Given the description of an element on the screen output the (x, y) to click on. 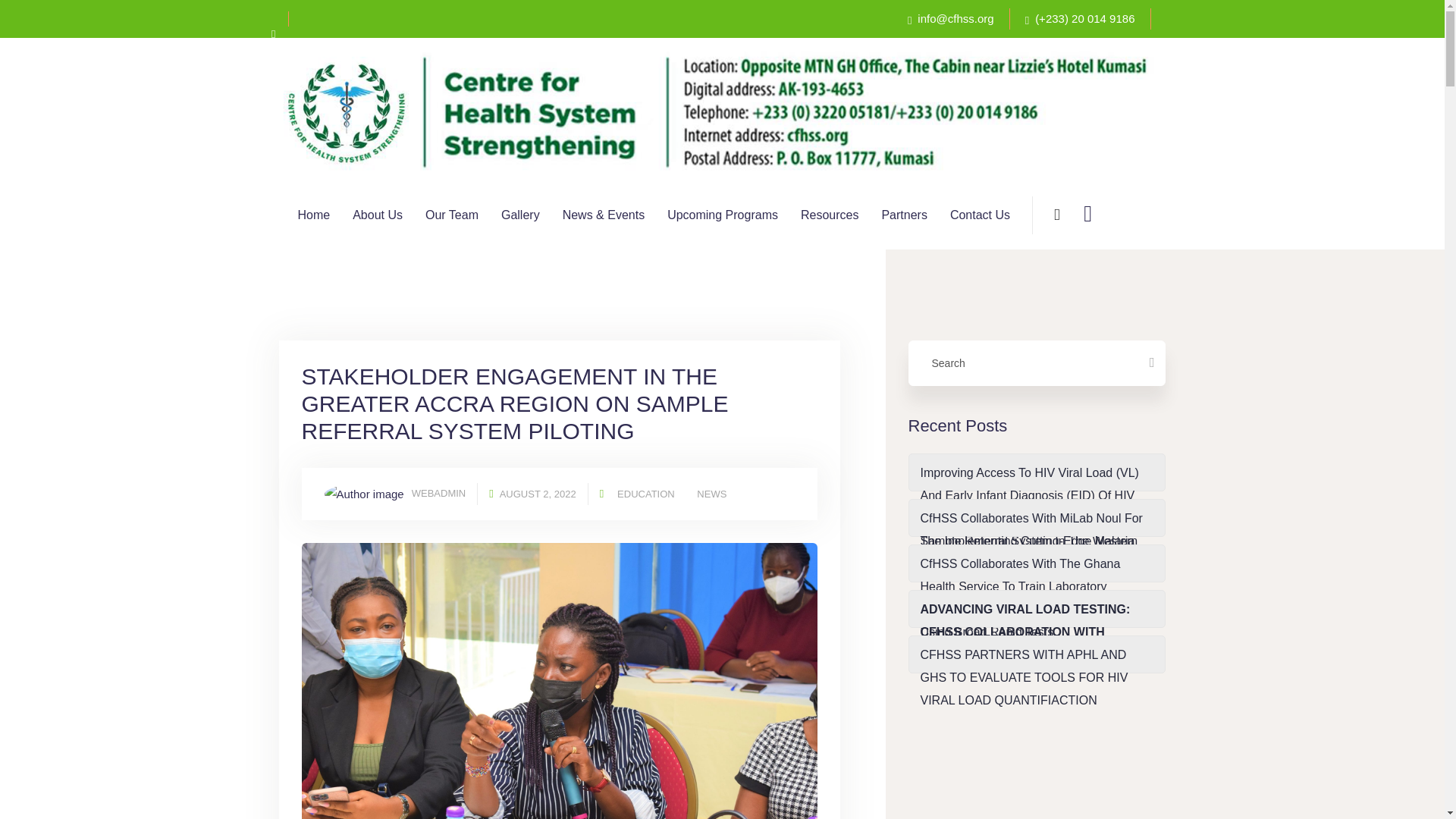
Our Team (452, 214)
Home (313, 214)
Search Now! (1004, 296)
Contact Us (980, 214)
Upcoming Programs (721, 214)
Resources (829, 214)
Partners (903, 214)
Gallery (520, 214)
About Us (377, 214)
